Given the description of an element on the screen output the (x, y) to click on. 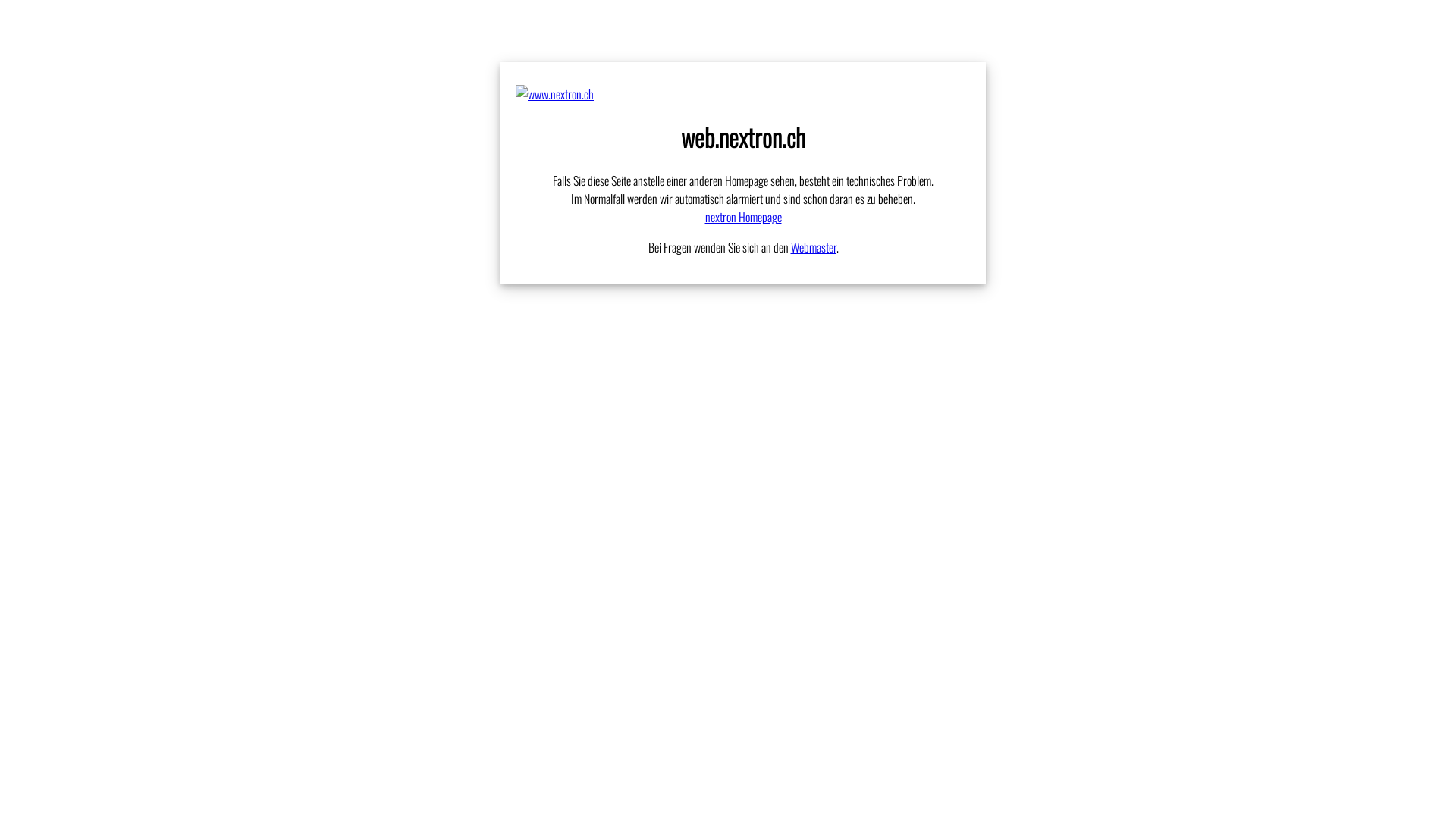
nextron Homepage Element type: text (743, 216)
Webmaster Element type: text (812, 247)
